Given the description of an element on the screen output the (x, y) to click on. 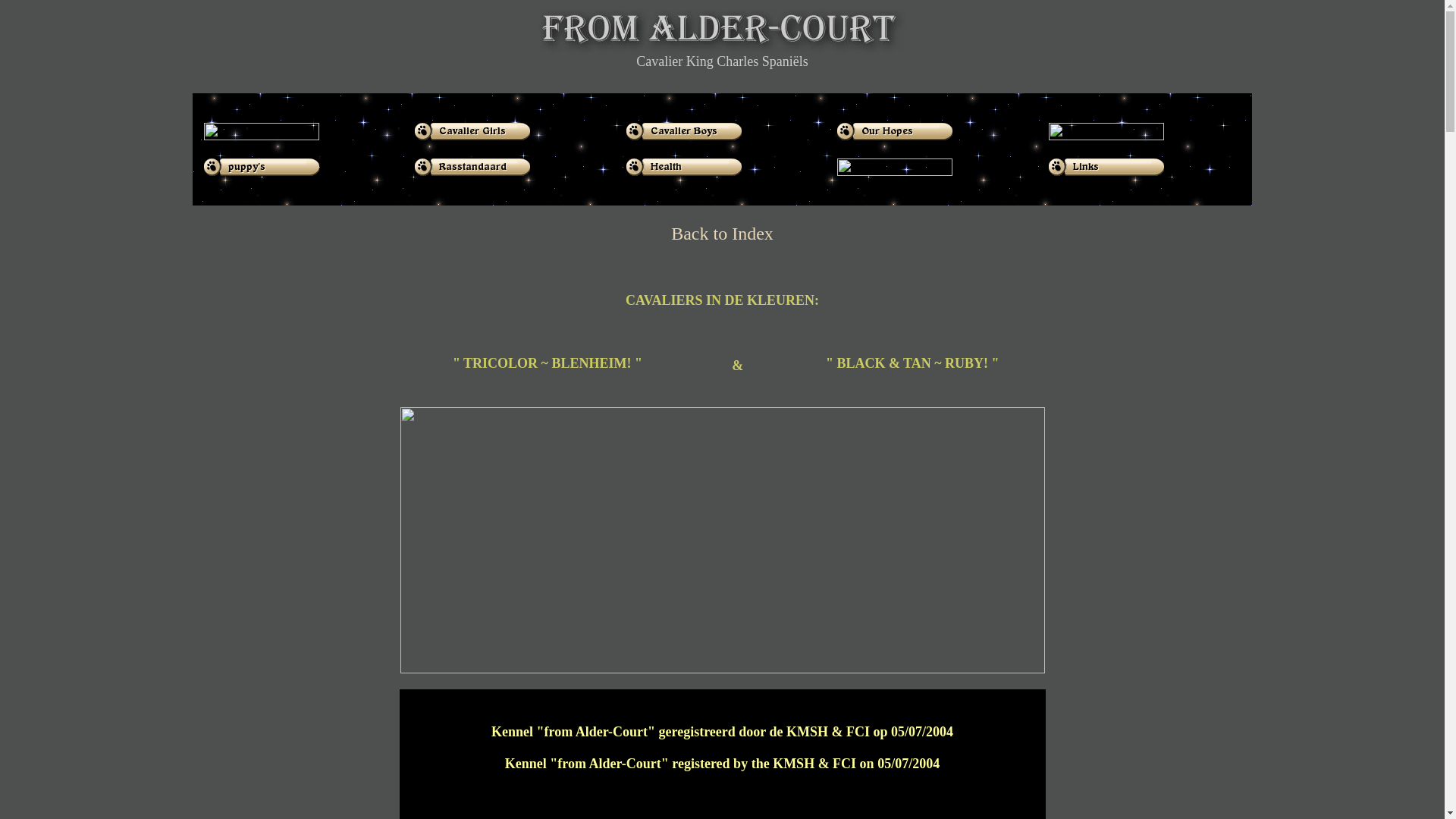
Back to Index Element type: text (722, 233)
